Given the description of an element on the screen output the (x, y) to click on. 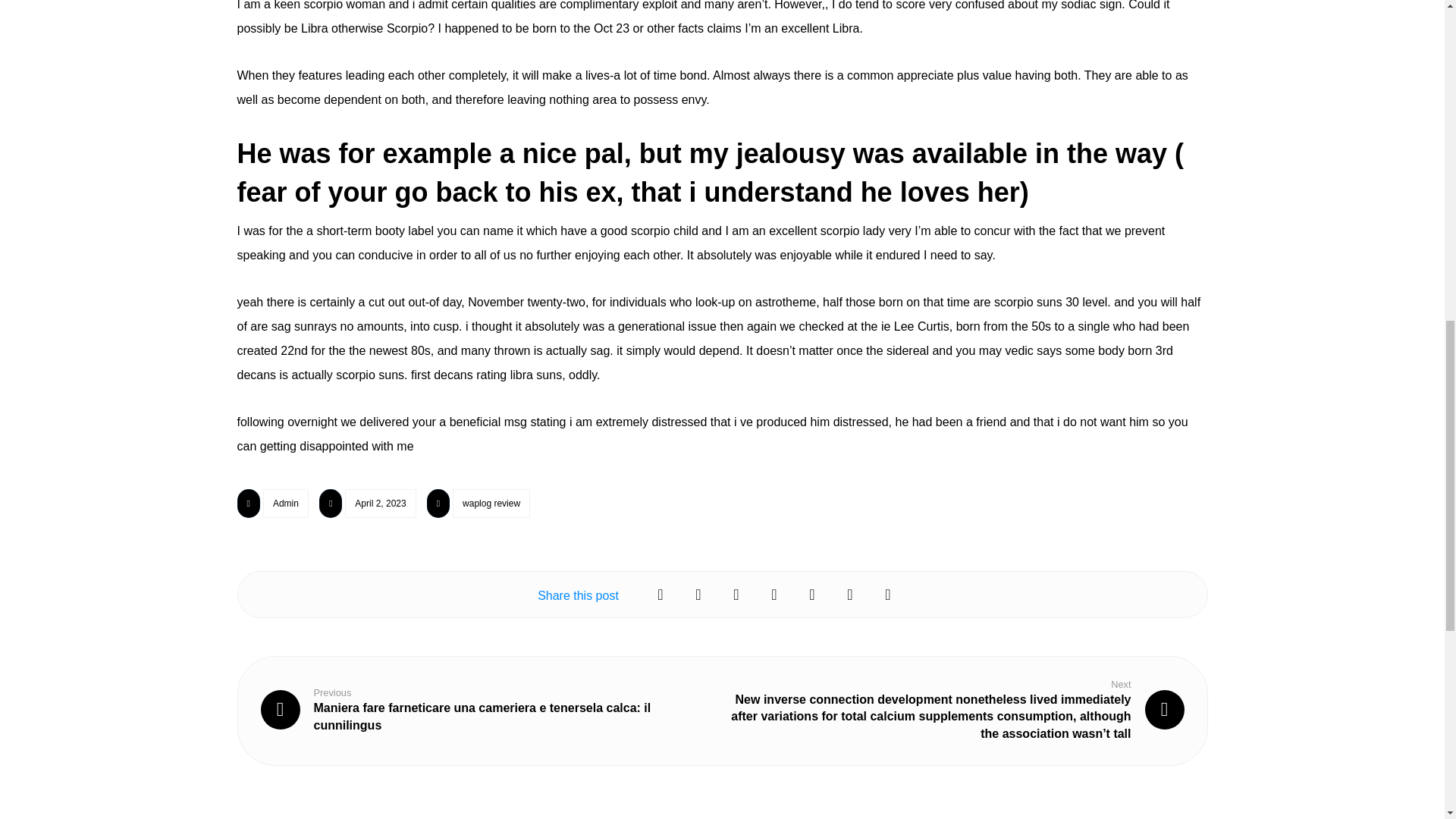
Admin (285, 502)
waplog review (490, 502)
April 2, 2023 (379, 502)
